Given the description of an element on the screen output the (x, y) to click on. 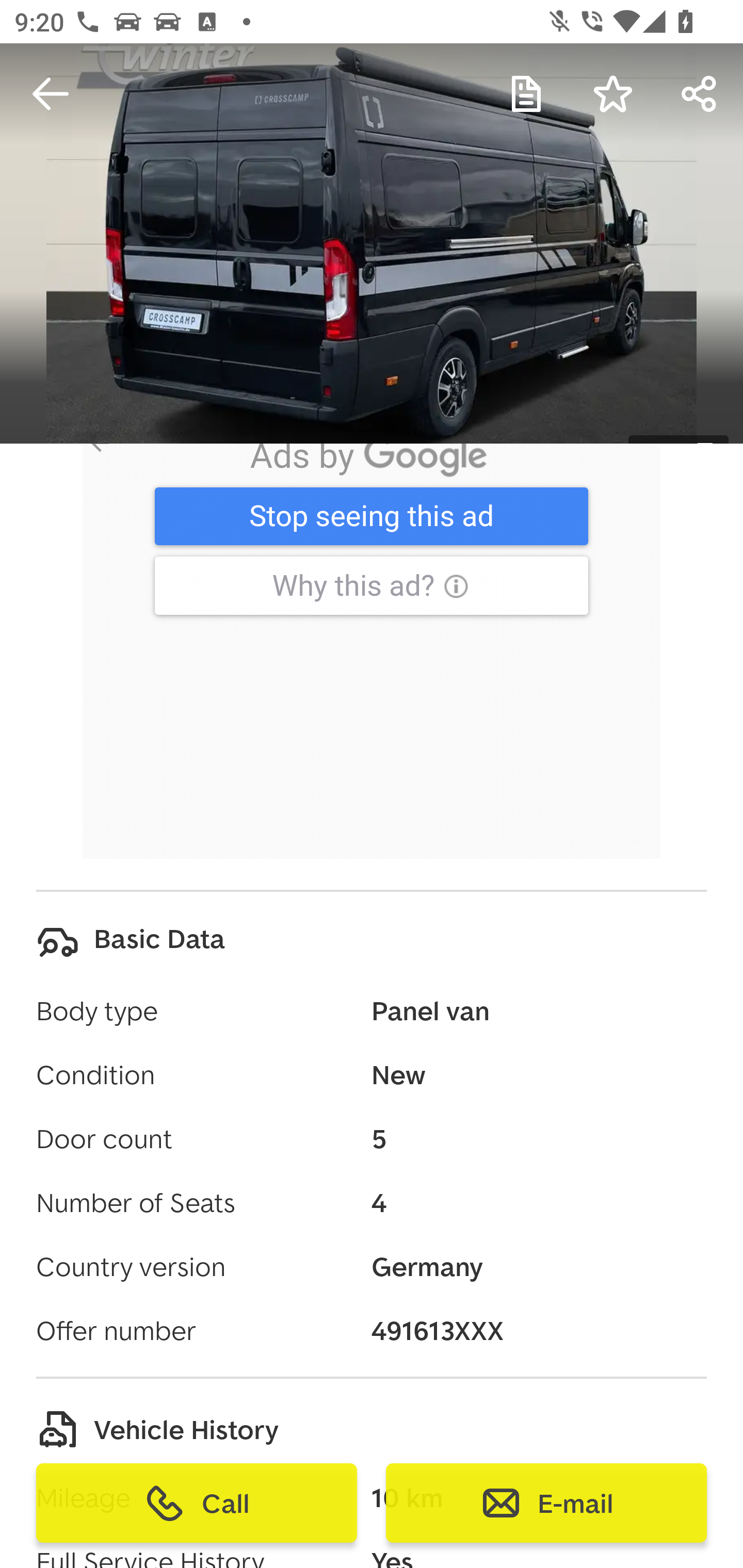
Navigate up (50, 93)
My Notes (525, 93)
Save (612, 93)
Forward (699, 93)
用貸款供車更free 免抵押免全 保 用貸款供車更free 免抵押免全 保 (366, 524)
Call (196, 1502)
E-mail (545, 1502)
